Given the description of an element on the screen output the (x, y) to click on. 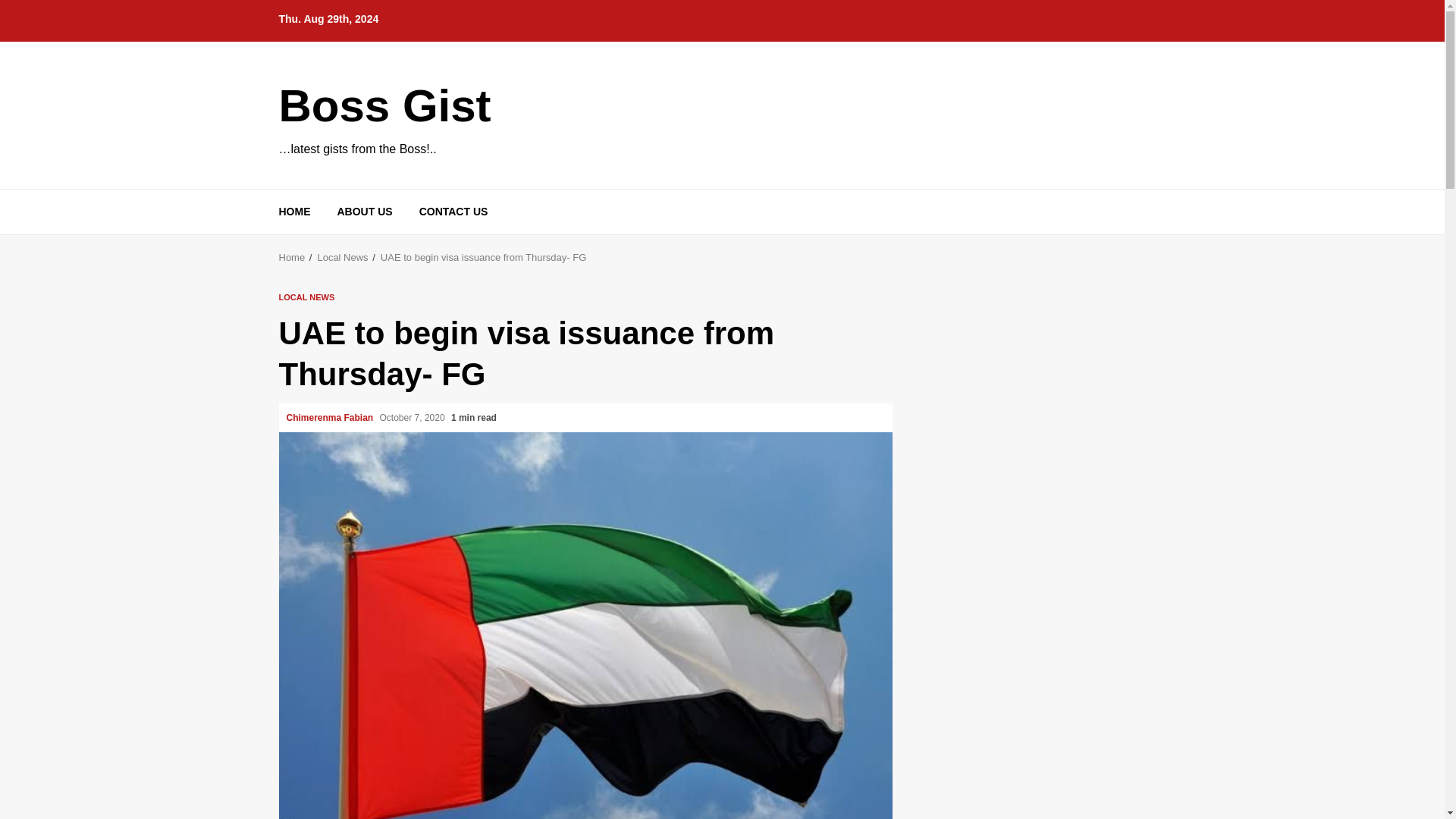
Search (1126, 236)
CONTACT US (453, 211)
HOME (295, 211)
Local News (342, 256)
ABOUT US (363, 211)
Home (292, 256)
UAE to begin visa issuance from Thursday- FG (483, 256)
Boss Gist (385, 105)
Chimerenma Fabian (330, 417)
LOCAL NEWS (306, 296)
